Given the description of an element on the screen output the (x, y) to click on. 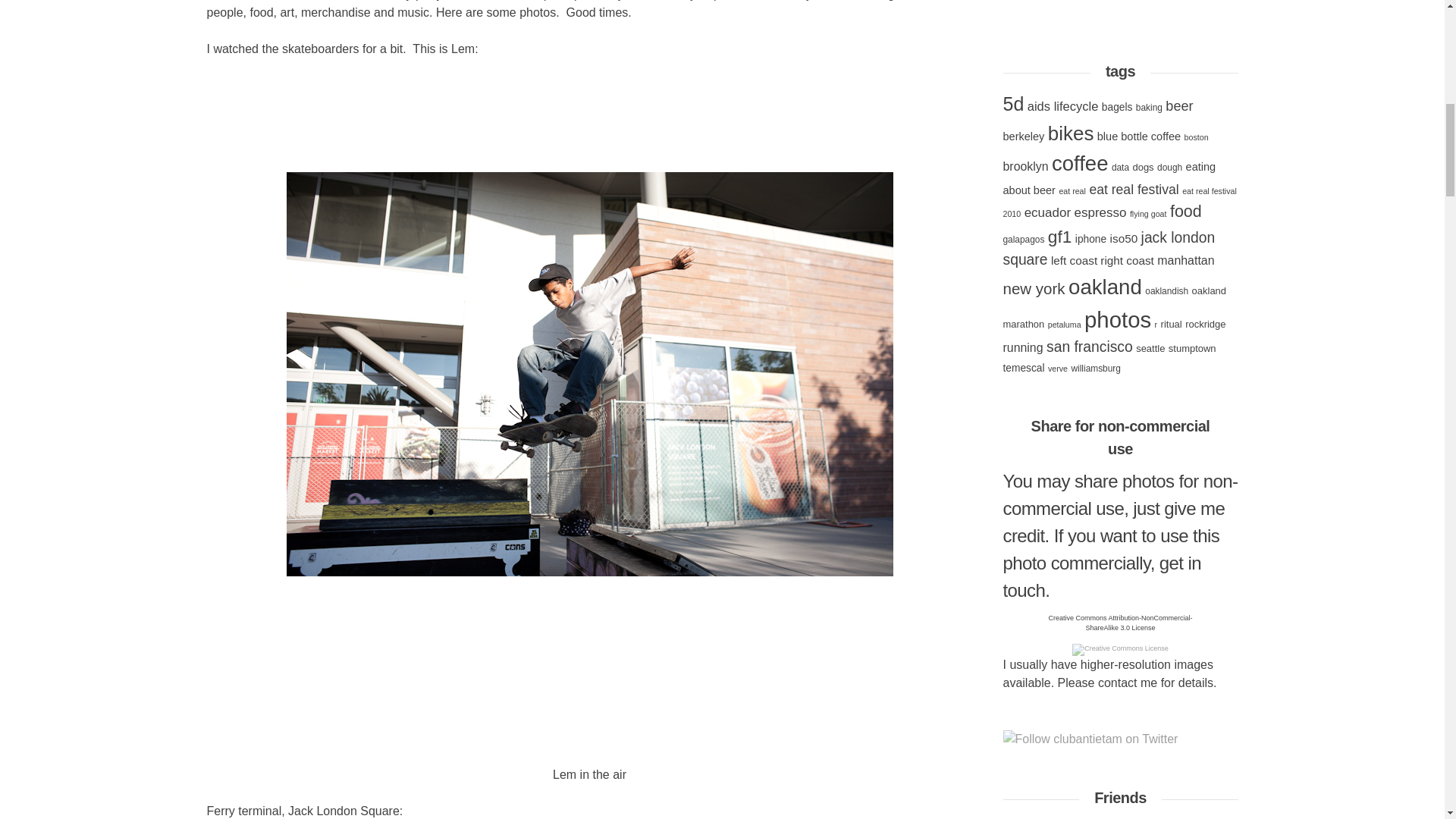
bikes (1071, 133)
beer (1179, 105)
bagels (1117, 107)
berkeley (1023, 136)
baking (1148, 107)
aids lifecycle (1063, 106)
5d (1013, 103)
